Given the description of an element on the screen output the (x, y) to click on. 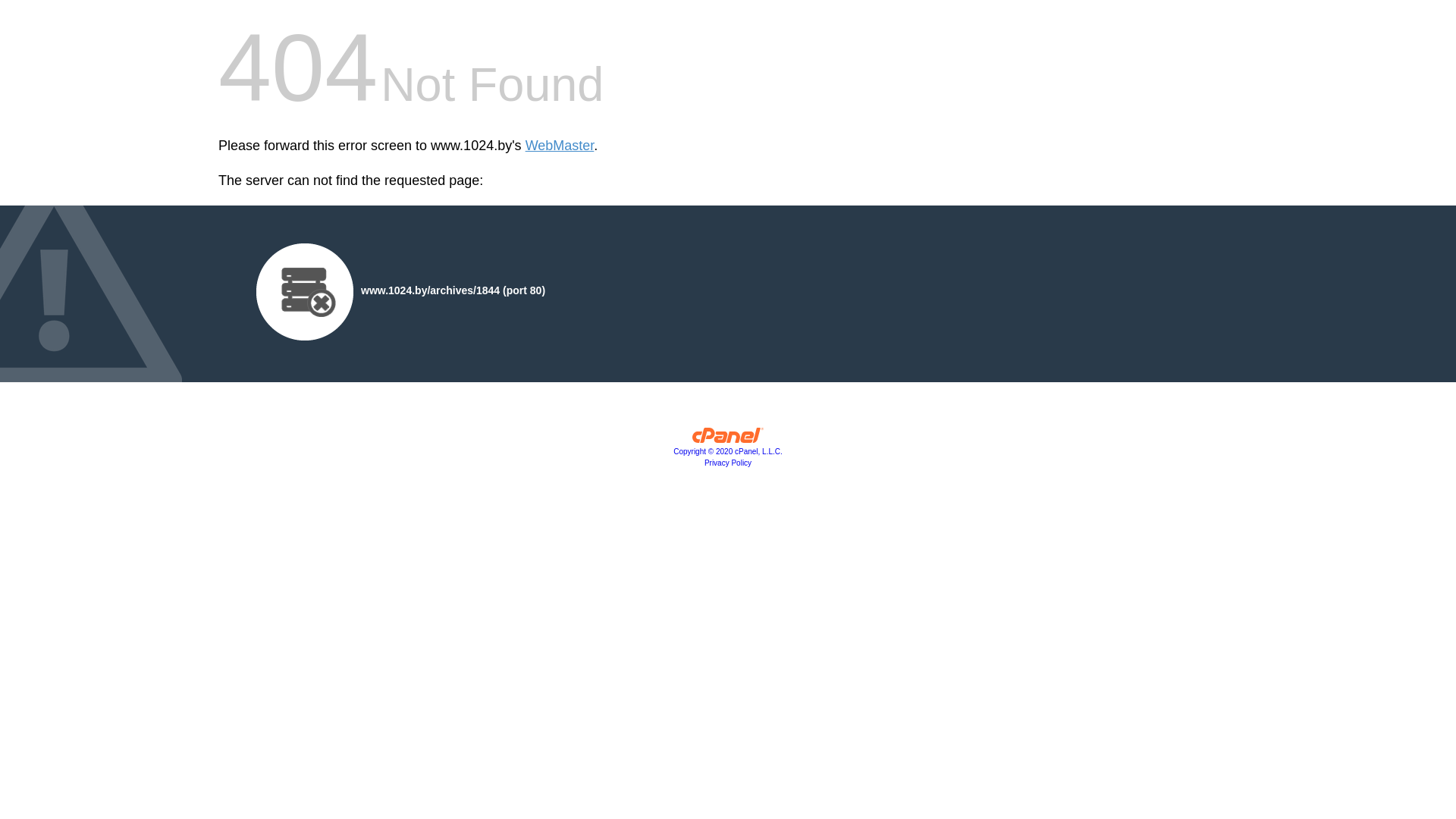
cPanel, Inc. Element type: hover (728, 439)
Privacy Policy Element type: text (727, 462)
WebMaster Element type: text (559, 145)
